Given the description of an element on the screen output the (x, y) to click on. 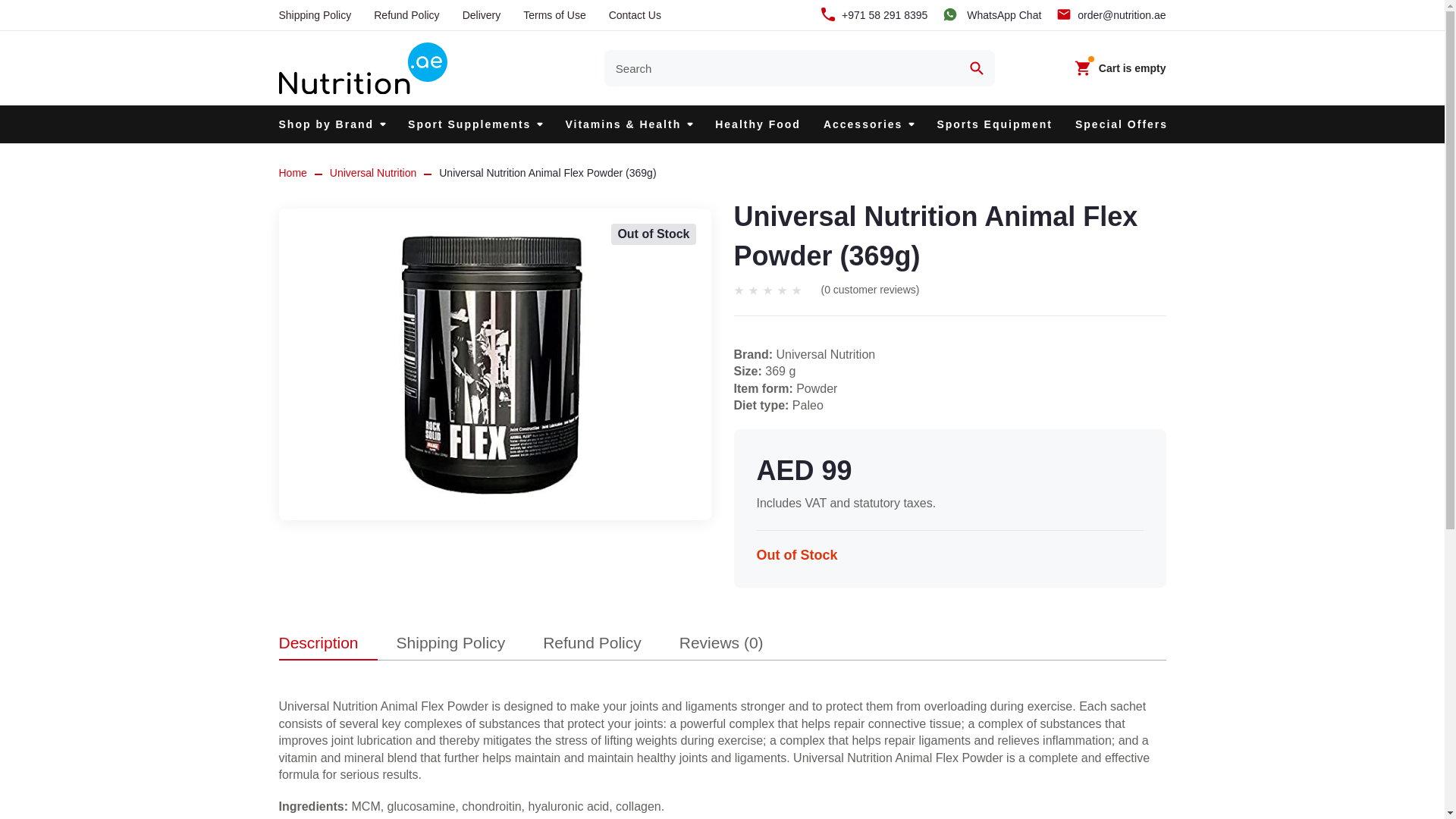
5 (797, 290)
Delivery (481, 15)
Nutrition.ae (362, 68)
Shipping Policy (315, 15)
Terms of Use (553, 15)
1 (738, 290)
3 (767, 290)
2 (752, 290)
Search (976, 67)
WhatsApp Chat (991, 15)
4 (781, 290)
Cart is empty (1119, 67)
Contact Us (634, 15)
